Given the description of an element on the screen output the (x, y) to click on. 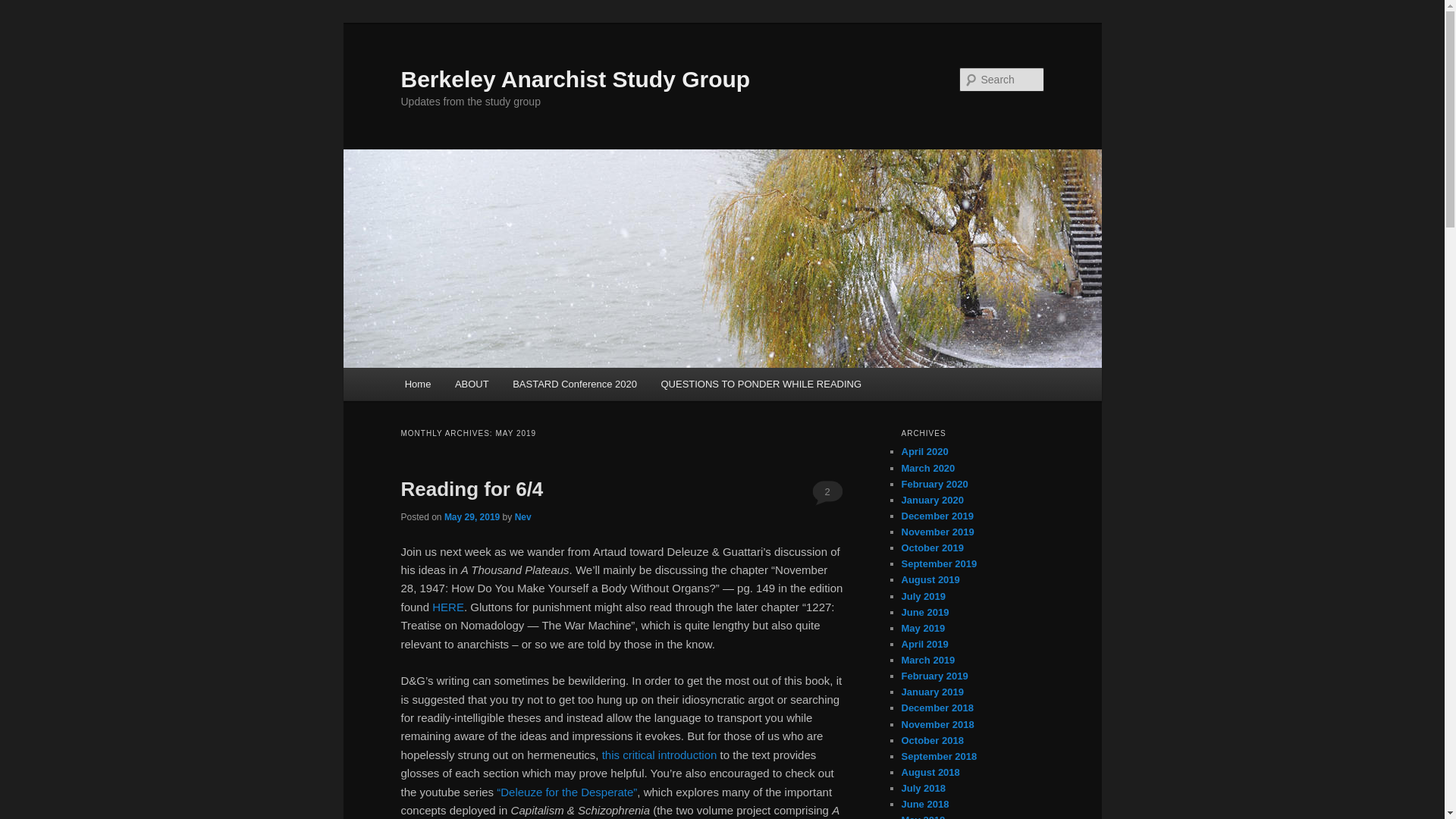
ABOUT (471, 383)
BASTARD Conference 2020 (573, 383)
Nev (523, 516)
QUESTIONS TO PONDER WHILE READING (761, 383)
1:07 am (471, 516)
HERE (448, 606)
Search (24, 8)
May 29, 2019 (471, 516)
View all posts by Nev (523, 516)
this critical introduction (659, 754)
2 (827, 492)
Berkeley Anarchist Study Group (574, 78)
Home (417, 383)
